Given the description of an element on the screen output the (x, y) to click on. 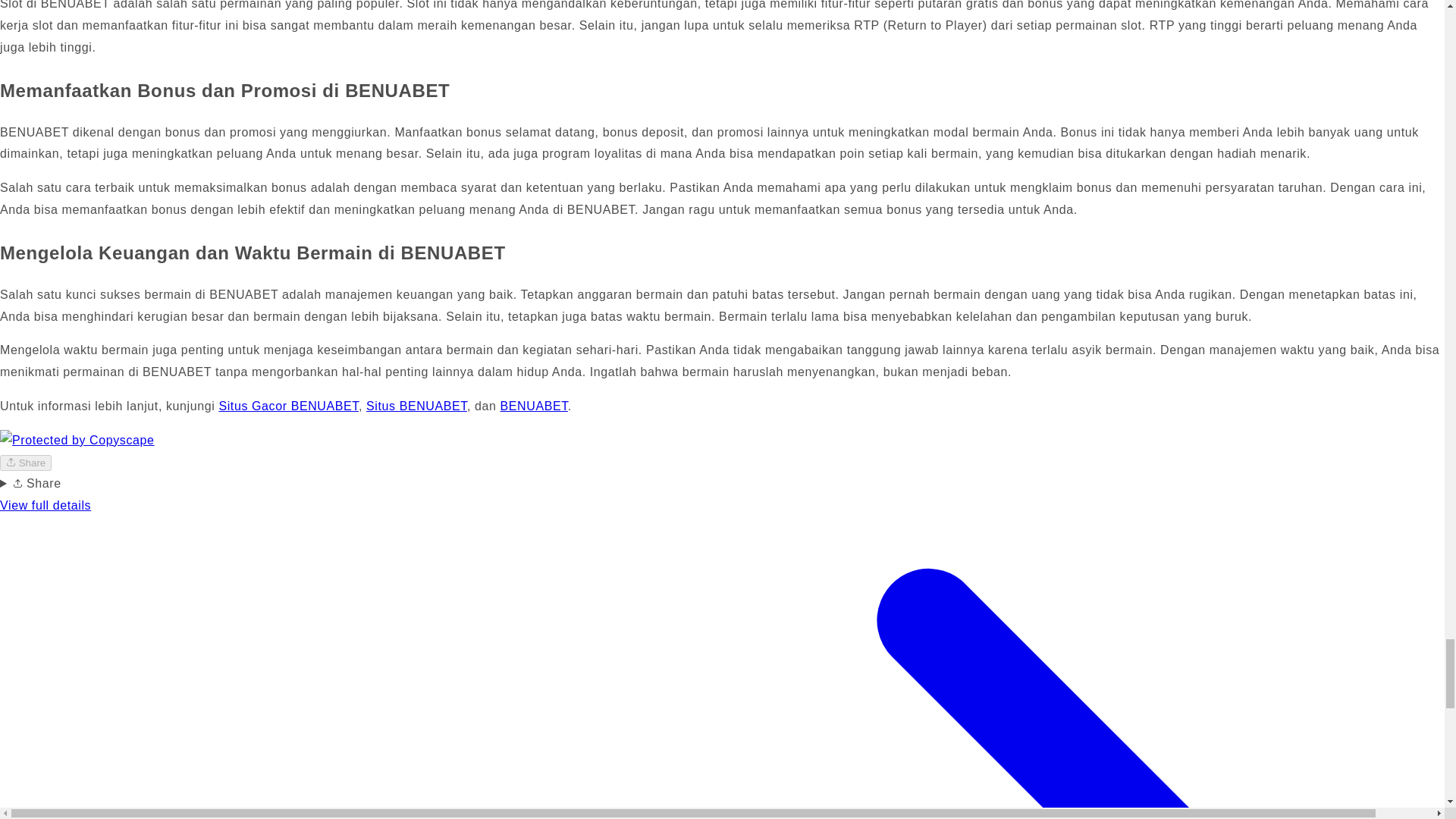
Protected by Copyscape - Do not copy content from this page. (77, 440)
Share (25, 462)
Situs BENUABET (416, 405)
Situs Gacor BENUABET (288, 405)
BENUABET (533, 405)
